Given the description of an element on the screen output the (x, y) to click on. 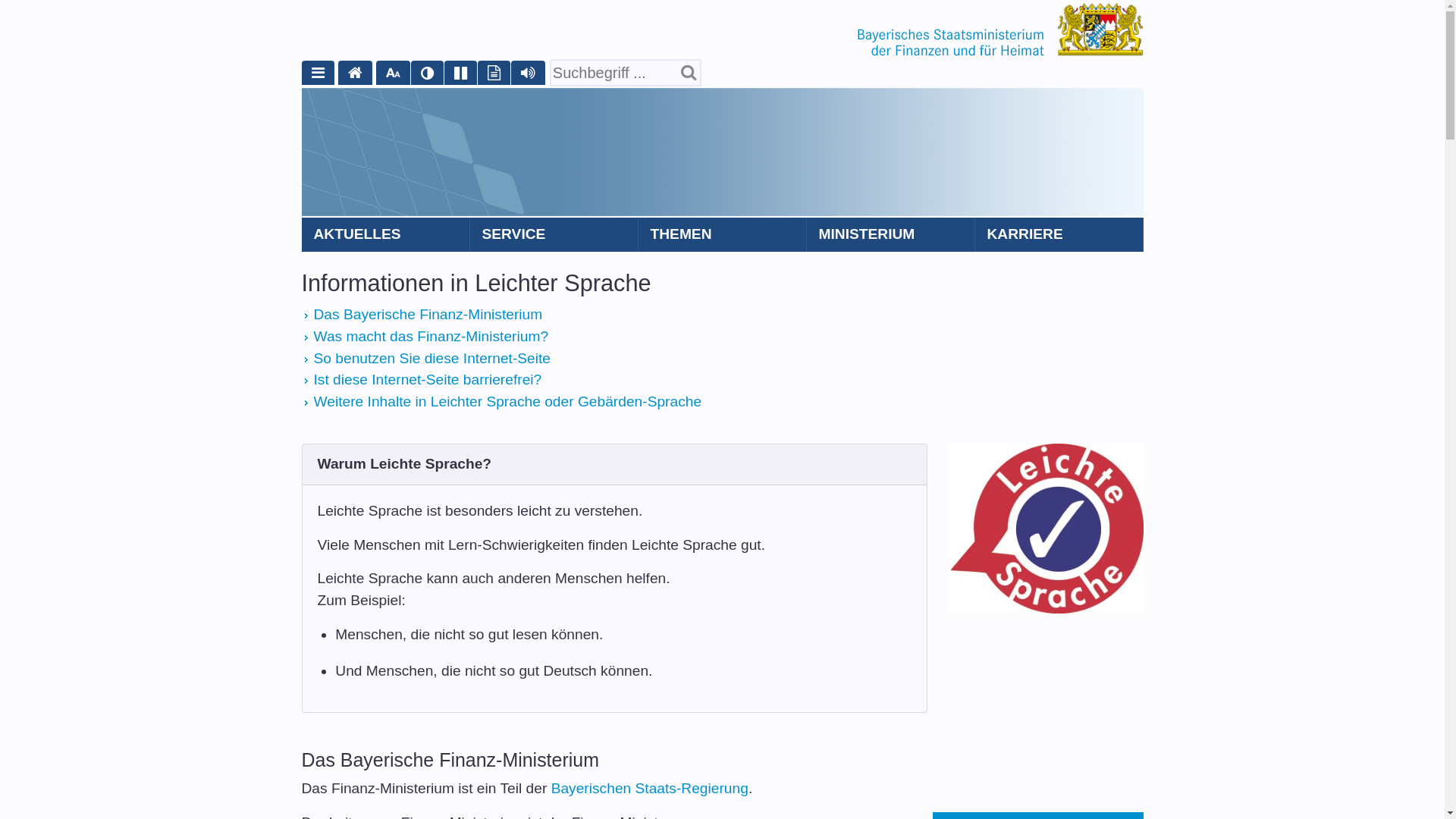
KARRIERE Element type: text (1059, 234)
Animationen stoppen Element type: hover (460, 72)
Zur Startseite Element type: hover (999, 27)
Informationen in Leichter Sprache anzeigen Element type: hover (493, 72)
Ist diese Internet-Seite barrierefrei? Element type: text (427, 379)
Vorlesen Element type: hover (528, 72)
Zur Startseite Element type: hover (355, 72)
So benutzen Sie diese Internet-Seite Element type: text (432, 358)
Was macht das Finanz-Ministerium? Element type: text (431, 336)
Suche starten Element type: hover (688, 75)
SERVICE Element type: text (554, 234)
THEMEN Element type: text (722, 234)
Das Bayerische Finanz-Ministerium Element type: text (427, 314)
Bayerischen Staats-Regierung Element type: text (649, 788)
MINISTERIUM Element type: text (890, 234)
AKTUELLES Element type: text (385, 234)
